Given the description of an element on the screen output the (x, y) to click on. 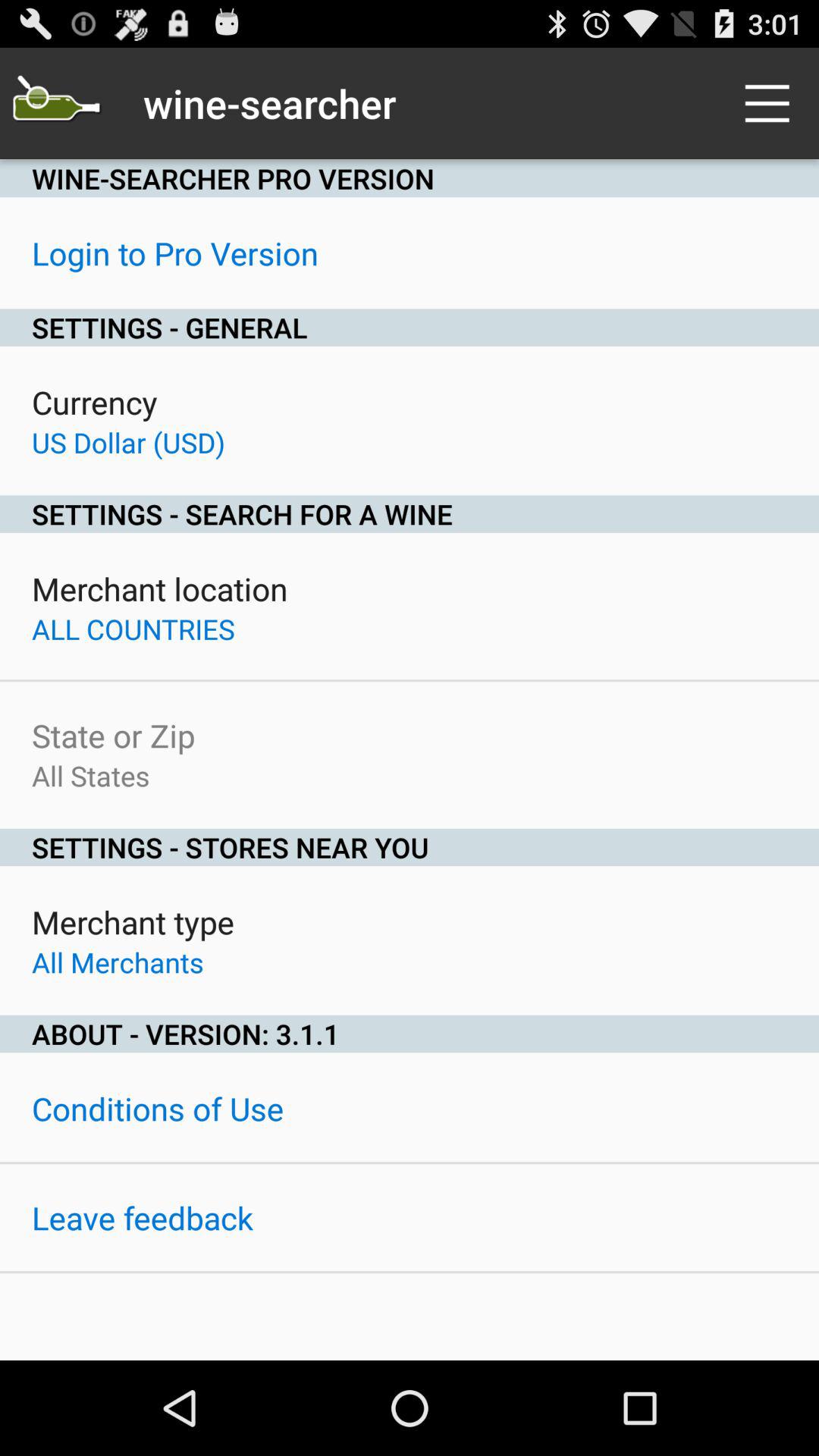
turn on the item above the currency (409, 327)
